Given the description of an element on the screen output the (x, y) to click on. 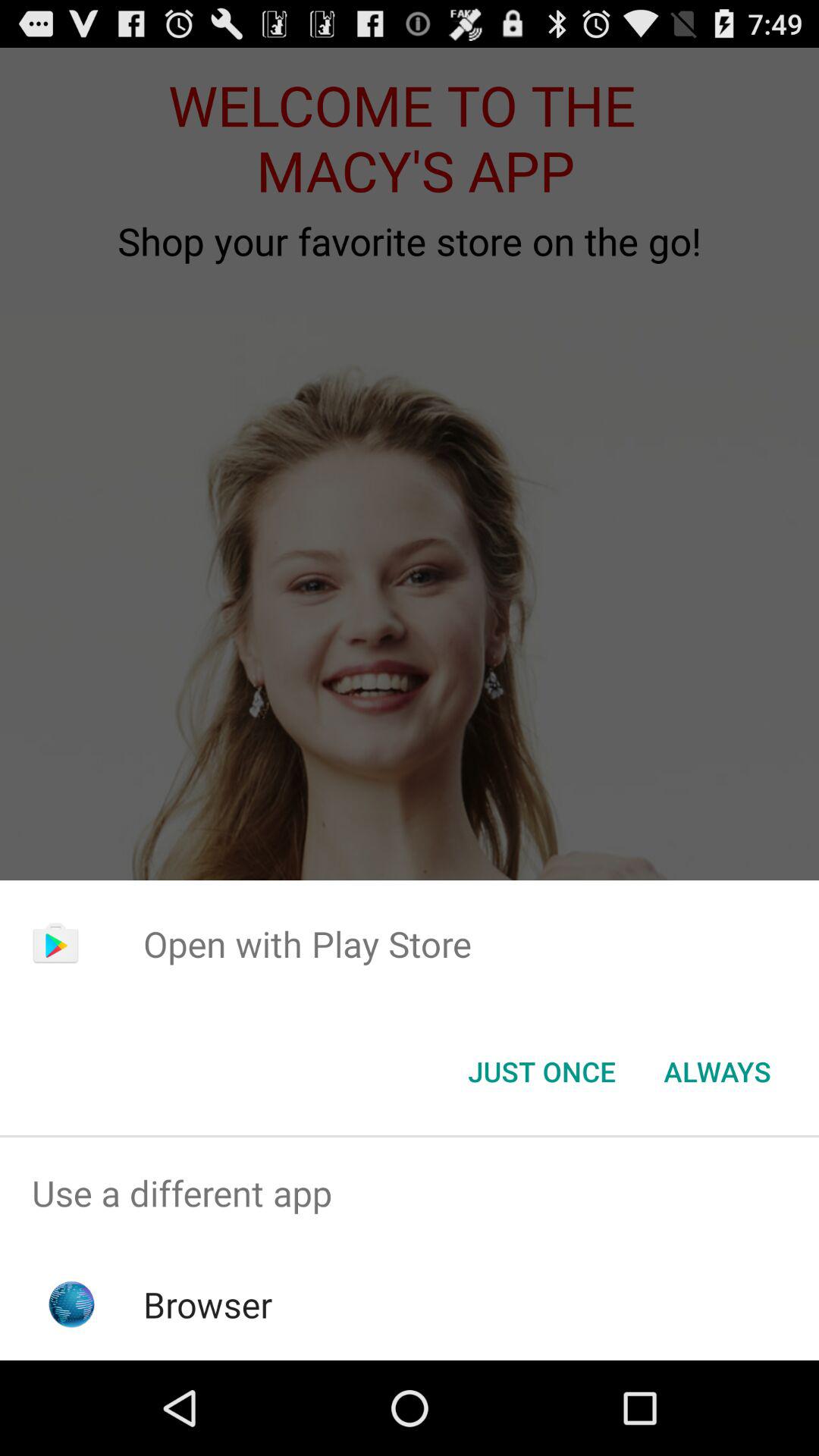
swipe to the browser (207, 1304)
